Given the description of an element on the screen output the (x, y) to click on. 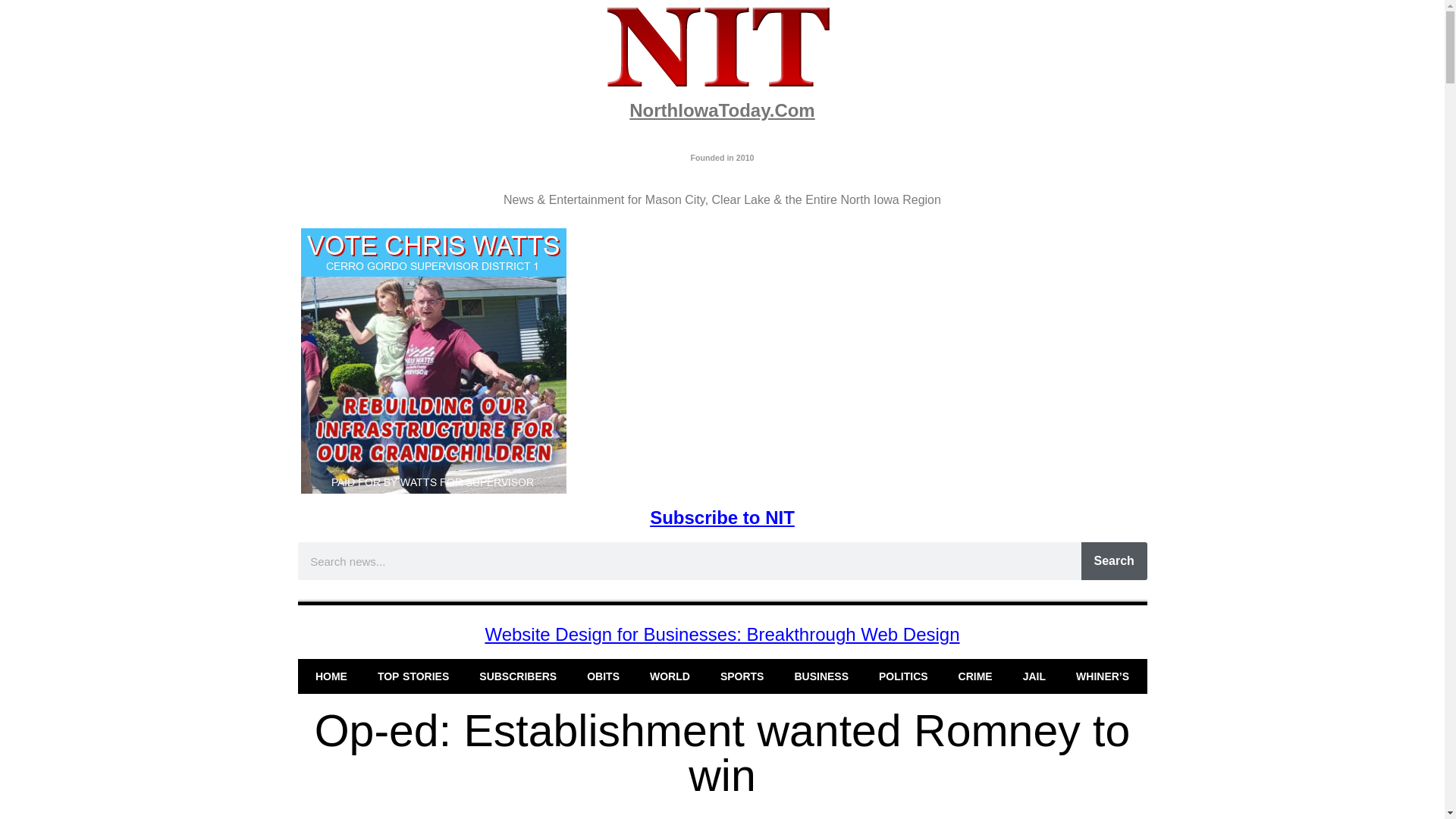
JAIL (1034, 676)
CRIME (975, 676)
Subscribe to NIT (721, 516)
Search (1114, 560)
SUBSCRIBERS (518, 676)
POLITICS (903, 676)
BUSINESS (820, 676)
SPORTS (741, 676)
OBITS (603, 676)
WORLD (669, 676)
